Given the description of an element on the screen output the (x, y) to click on. 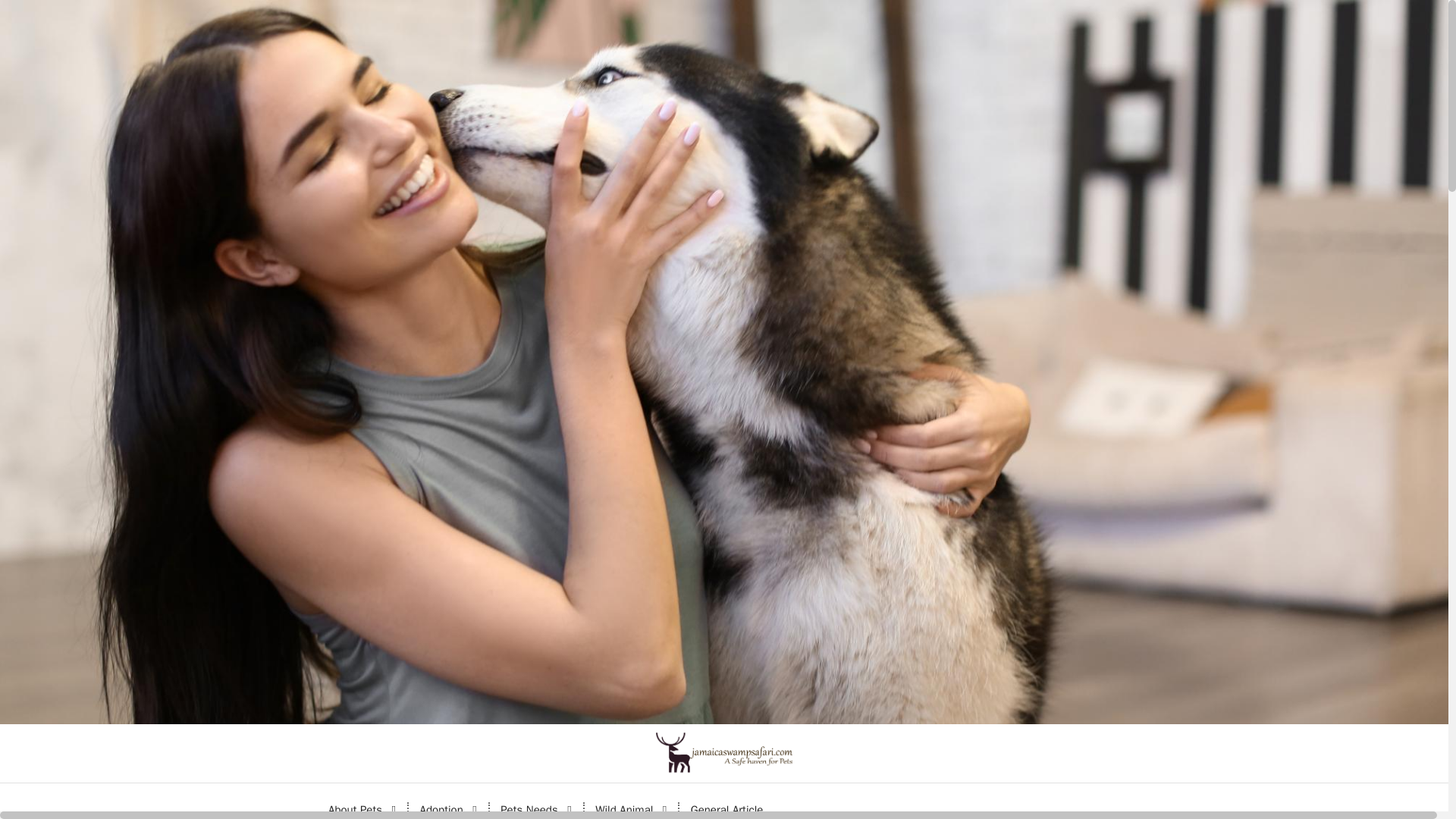
About Pets (362, 800)
